Given the description of an element on the screen output the (x, y) to click on. 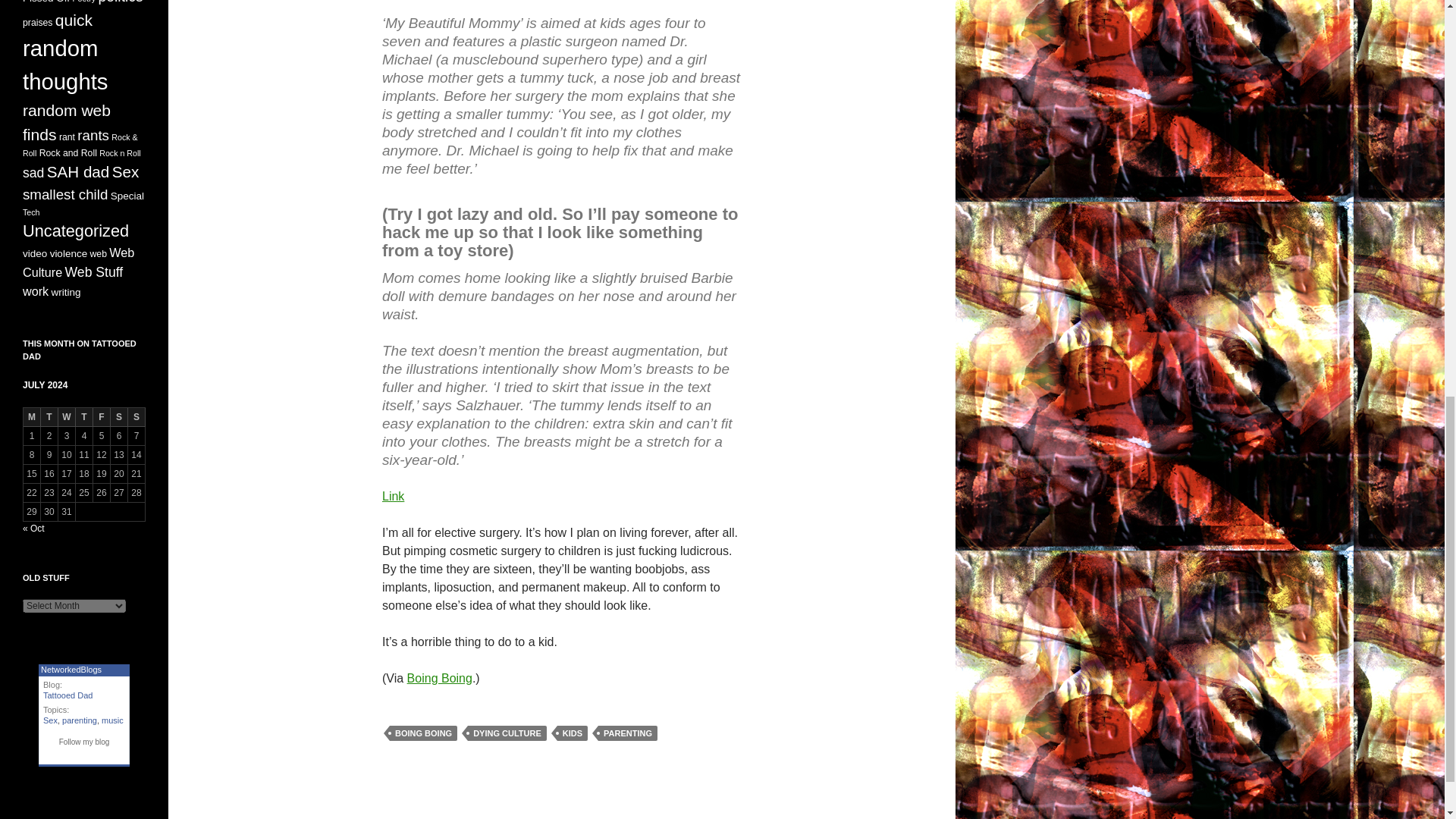
DYING CULTURE (507, 733)
PARENTING (628, 733)
Boing Boing (439, 677)
Wednesday (66, 416)
Saturday (119, 416)
Sunday (136, 416)
KIDS (572, 733)
Link (392, 495)
Friday (101, 416)
Monday (31, 416)
BOING BOING (423, 733)
Tuesday (49, 416)
Thursday (84, 416)
